Given the description of an element on the screen output the (x, y) to click on. 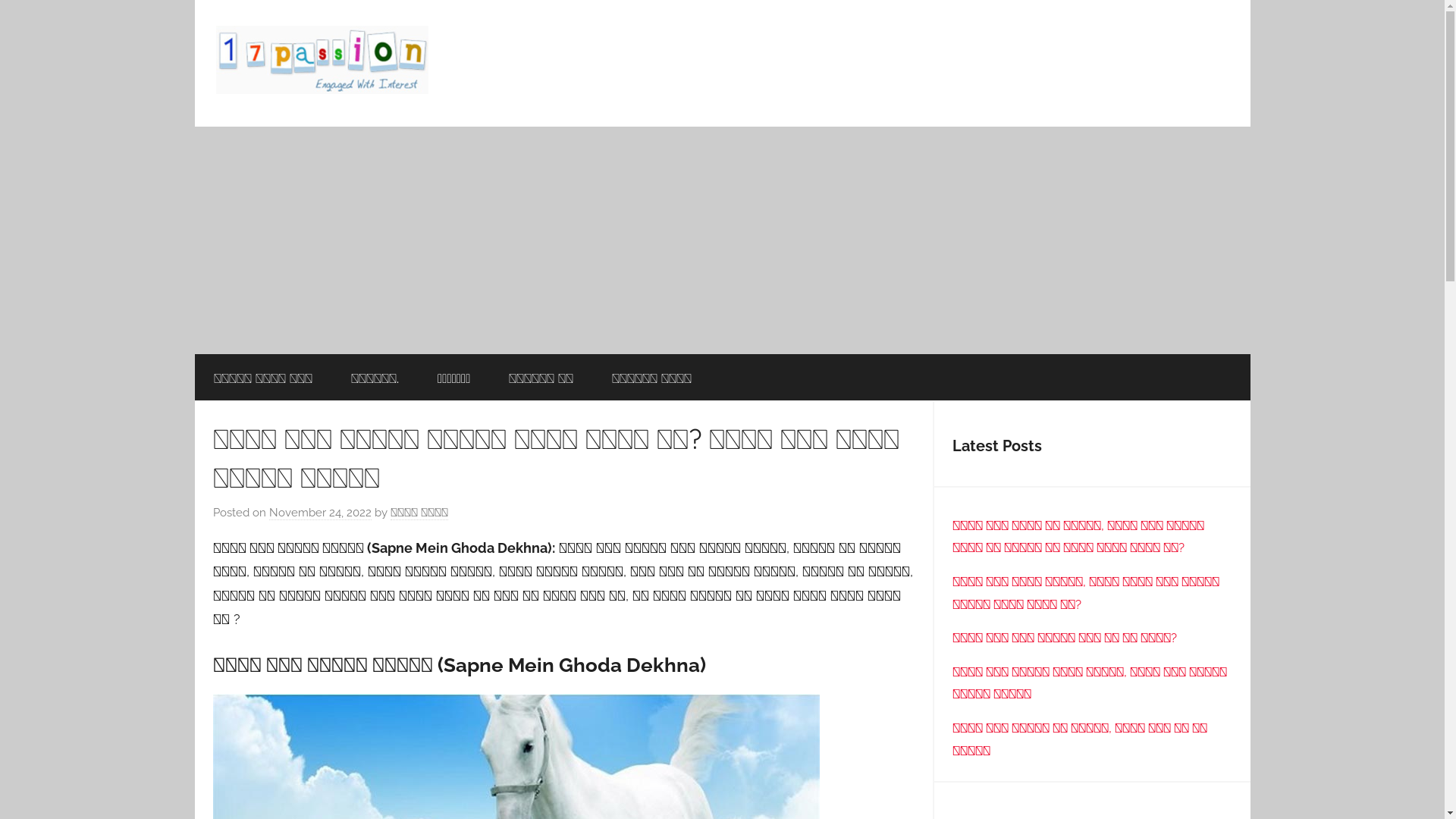
Advertisement Element type: hover (721, 239)
November 24, 2022 Element type: text (319, 512)
